Given the description of an element on the screen output the (x, y) to click on. 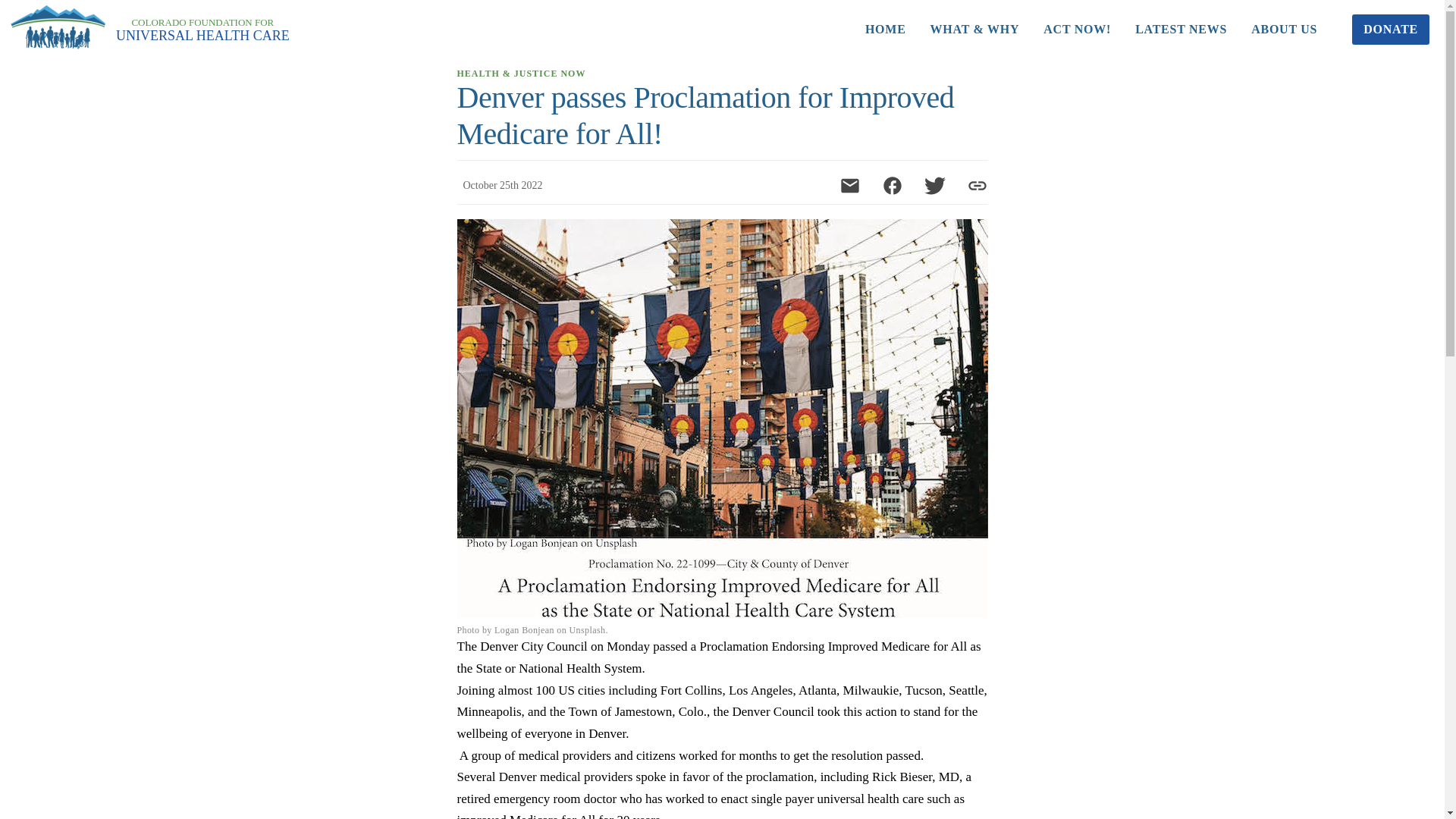
DONATE (1390, 29)
HOME (885, 29)
Skip to content (15, 7)
ACT NOW! (1076, 29)
LATEST NEWS (203, 29)
ABOUT US (1180, 29)
